Given the description of an element on the screen output the (x, y) to click on. 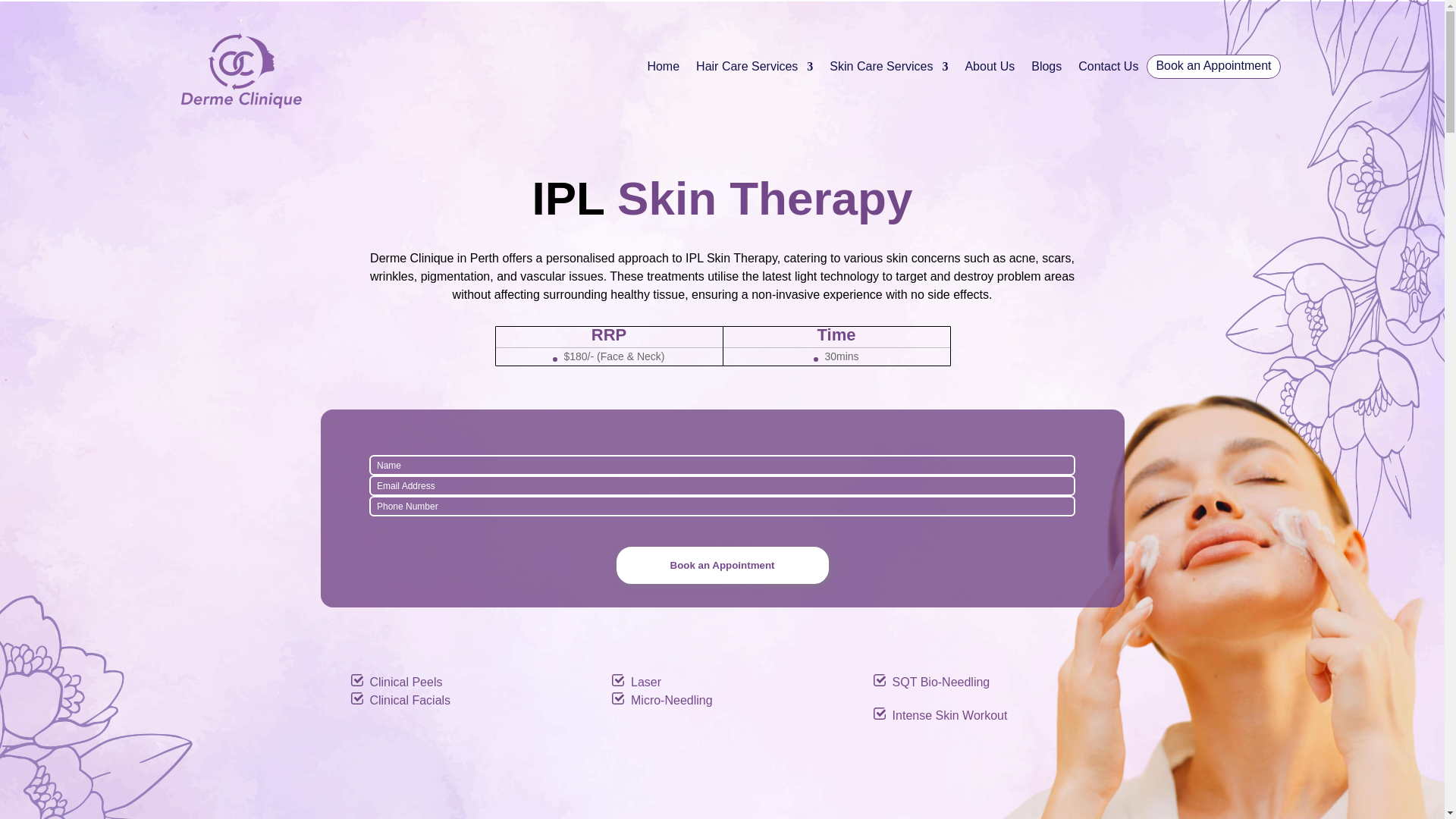
Skin Care Services (888, 69)
Home (662, 69)
Book an Appointment (721, 565)
Hair Care Services (753, 69)
logo (239, 68)
